Given the description of an element on the screen output the (x, y) to click on. 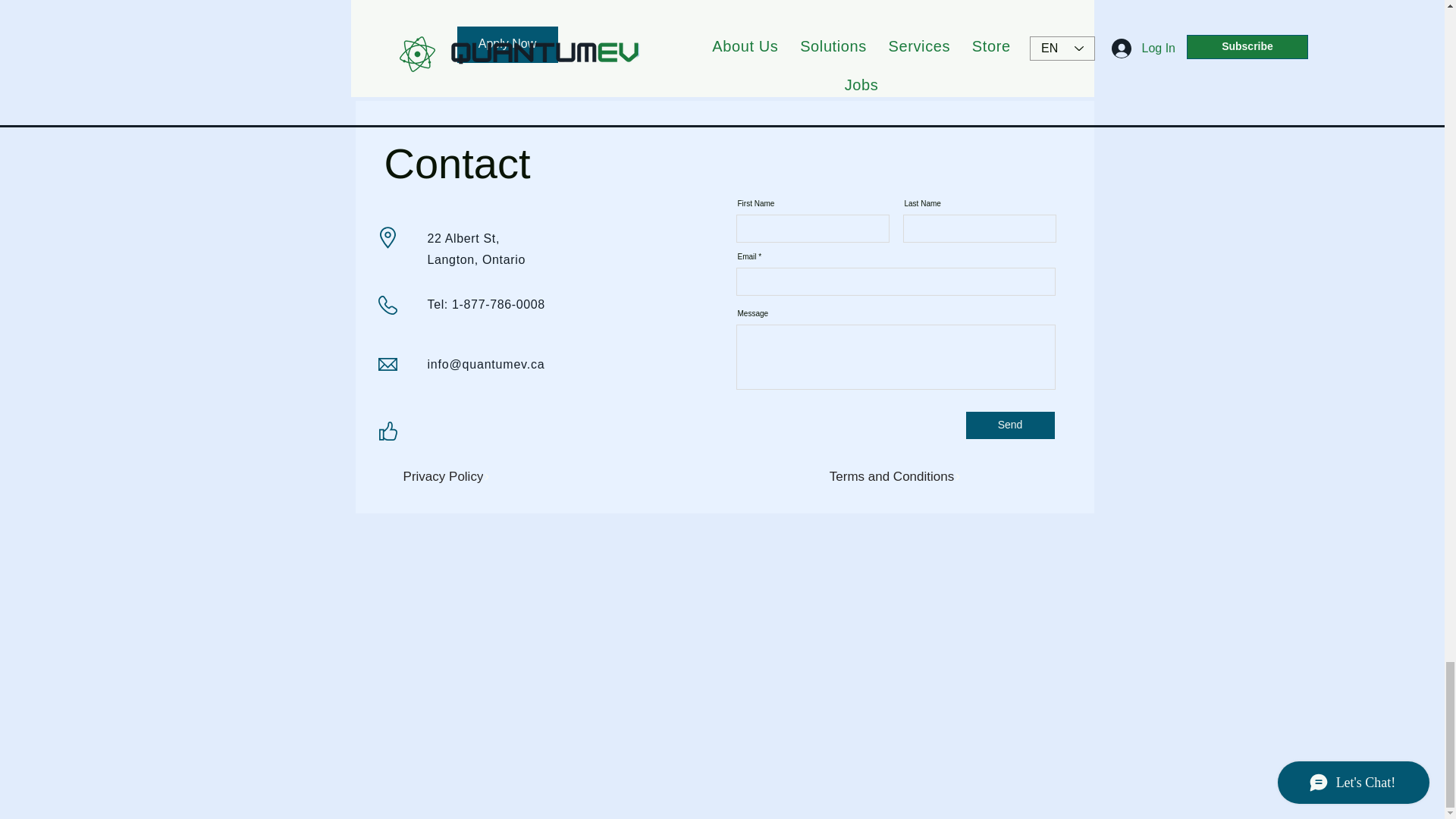
Privacy Policy (446, 477)
Send (1010, 424)
Terms and Conditions (895, 477)
